Given the description of an element on the screen output the (x, y) to click on. 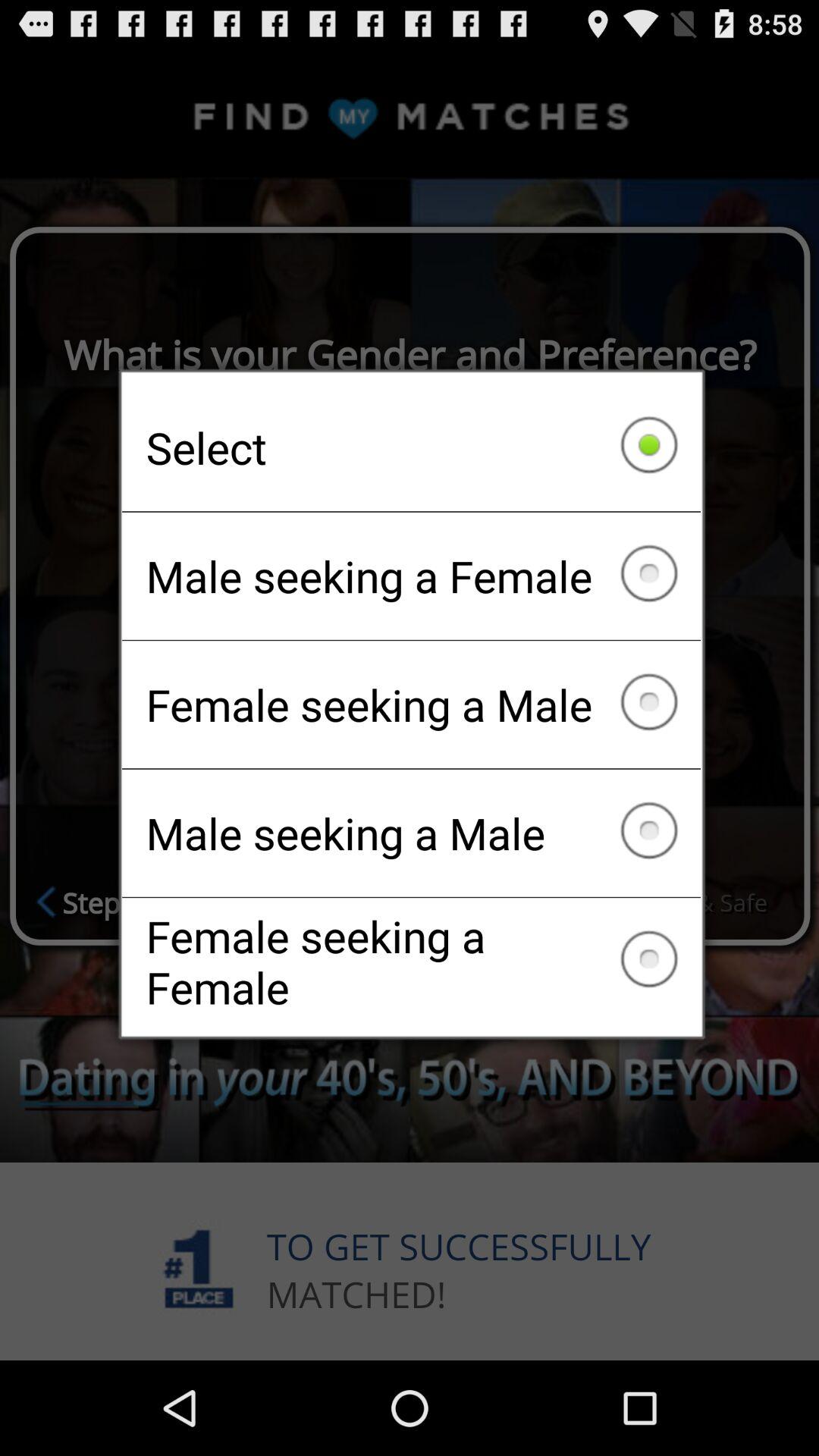
turn off the checkbox above the male seeking a icon (411, 447)
